Given the description of an element on the screen output the (x, y) to click on. 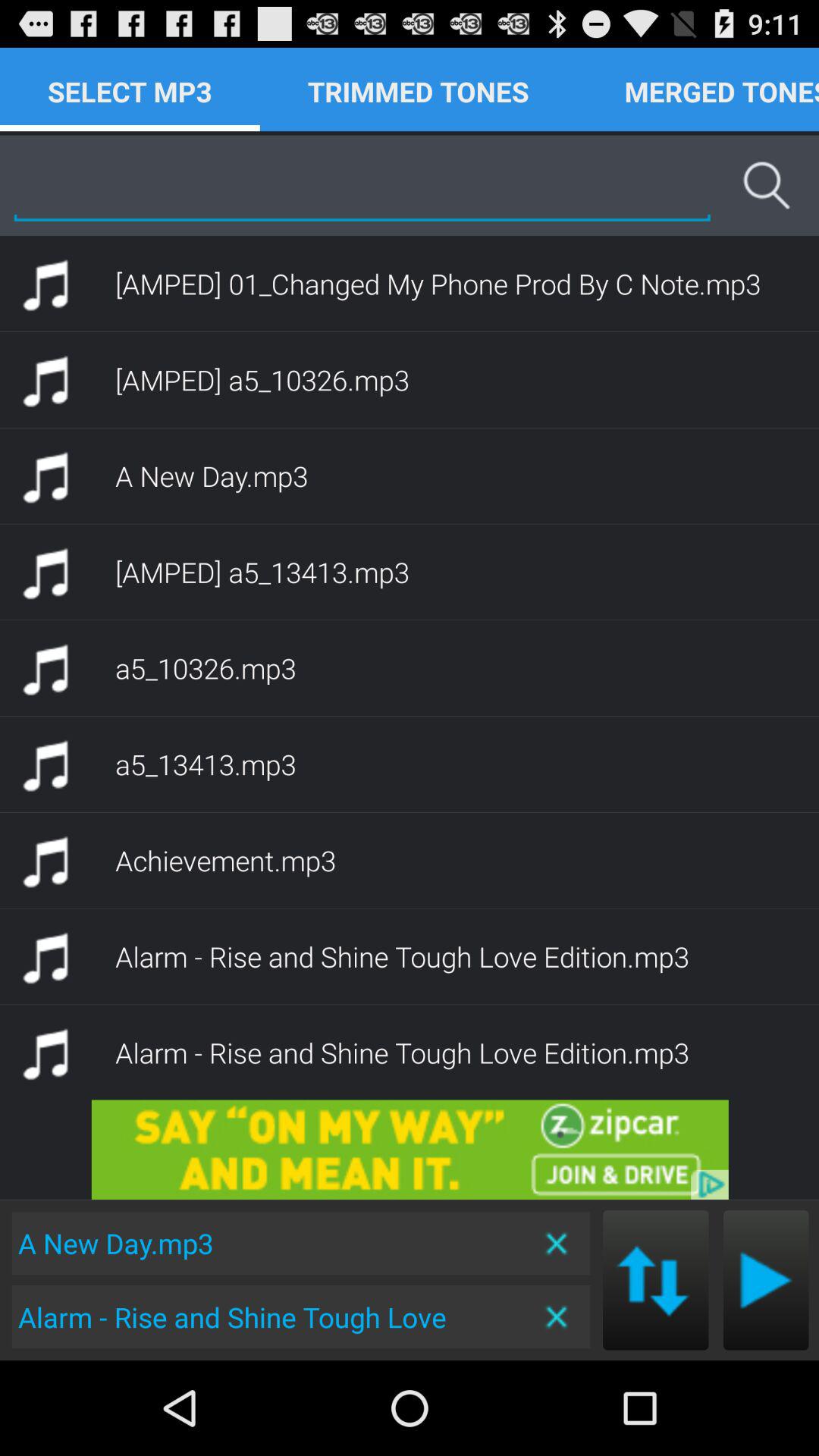
search textbox (362, 185)
